Given the description of an element on the screen output the (x, y) to click on. 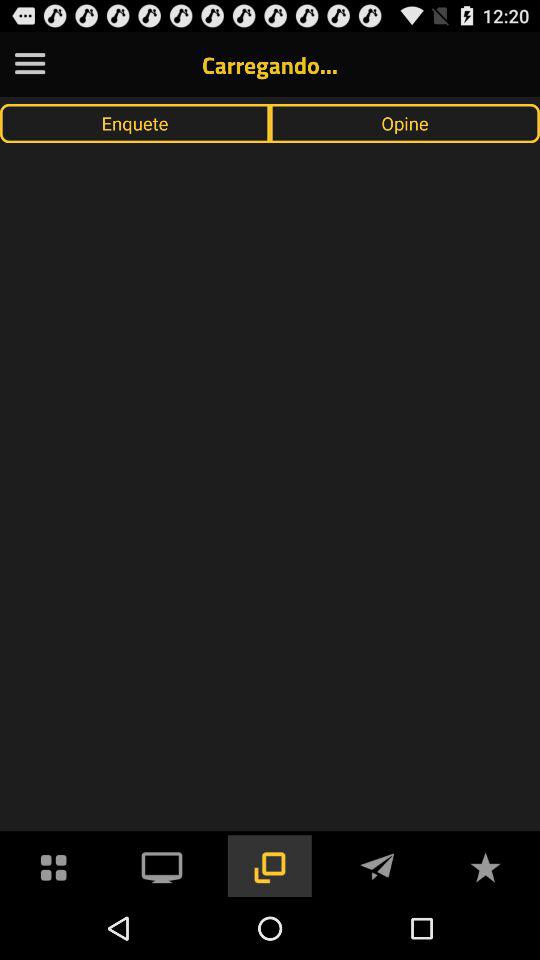
send the item (377, 865)
